Given the description of an element on the screen output the (x, y) to click on. 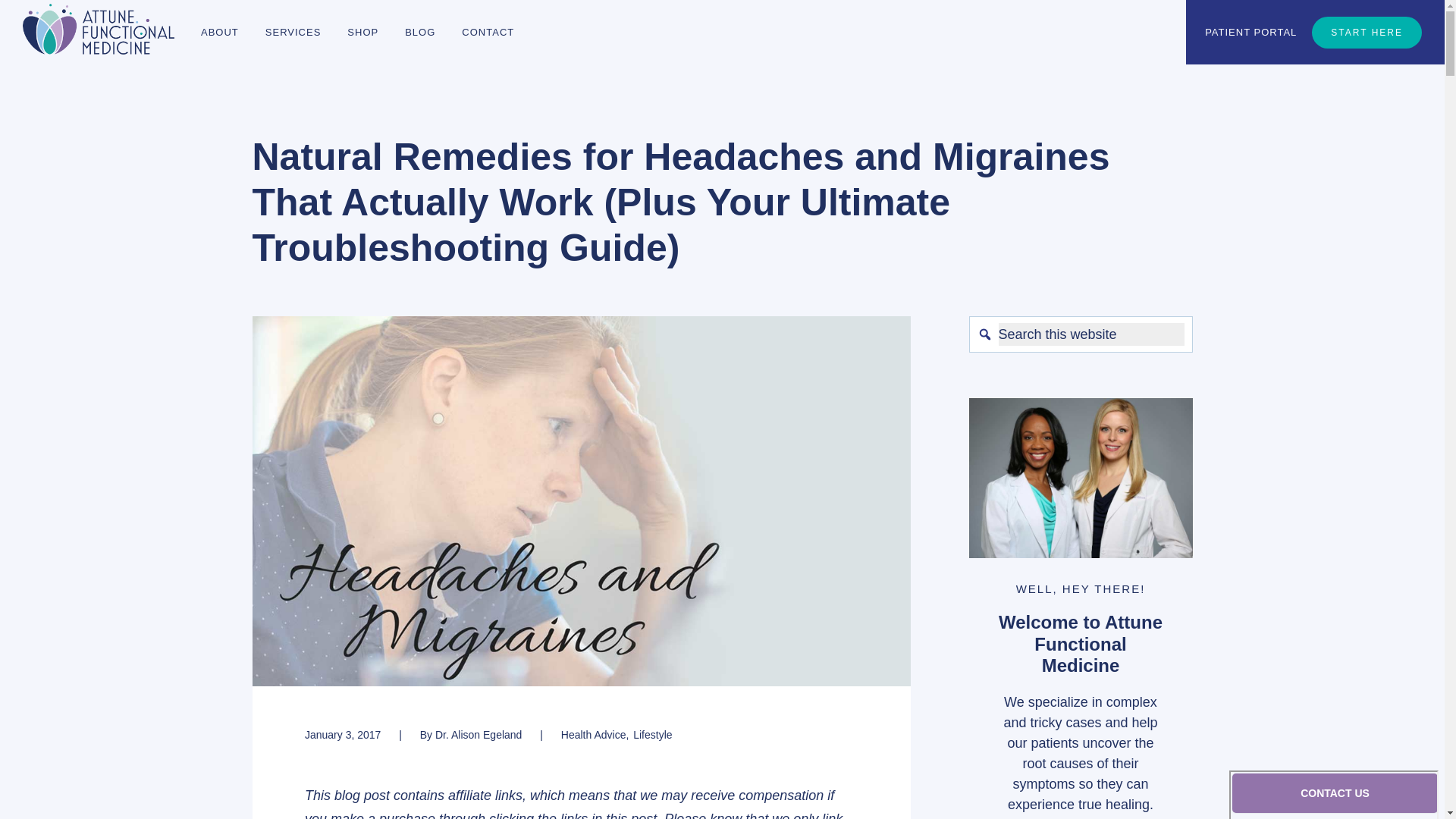
Search (1028, 333)
BLOG (419, 31)
SHOP (363, 31)
START HERE (1366, 32)
PATIENT PORTAL (1250, 31)
Search (1028, 333)
CONTACT (487, 31)
ABOUT (219, 31)
SERVICES (293, 31)
